Given the description of an element on the screen output the (x, y) to click on. 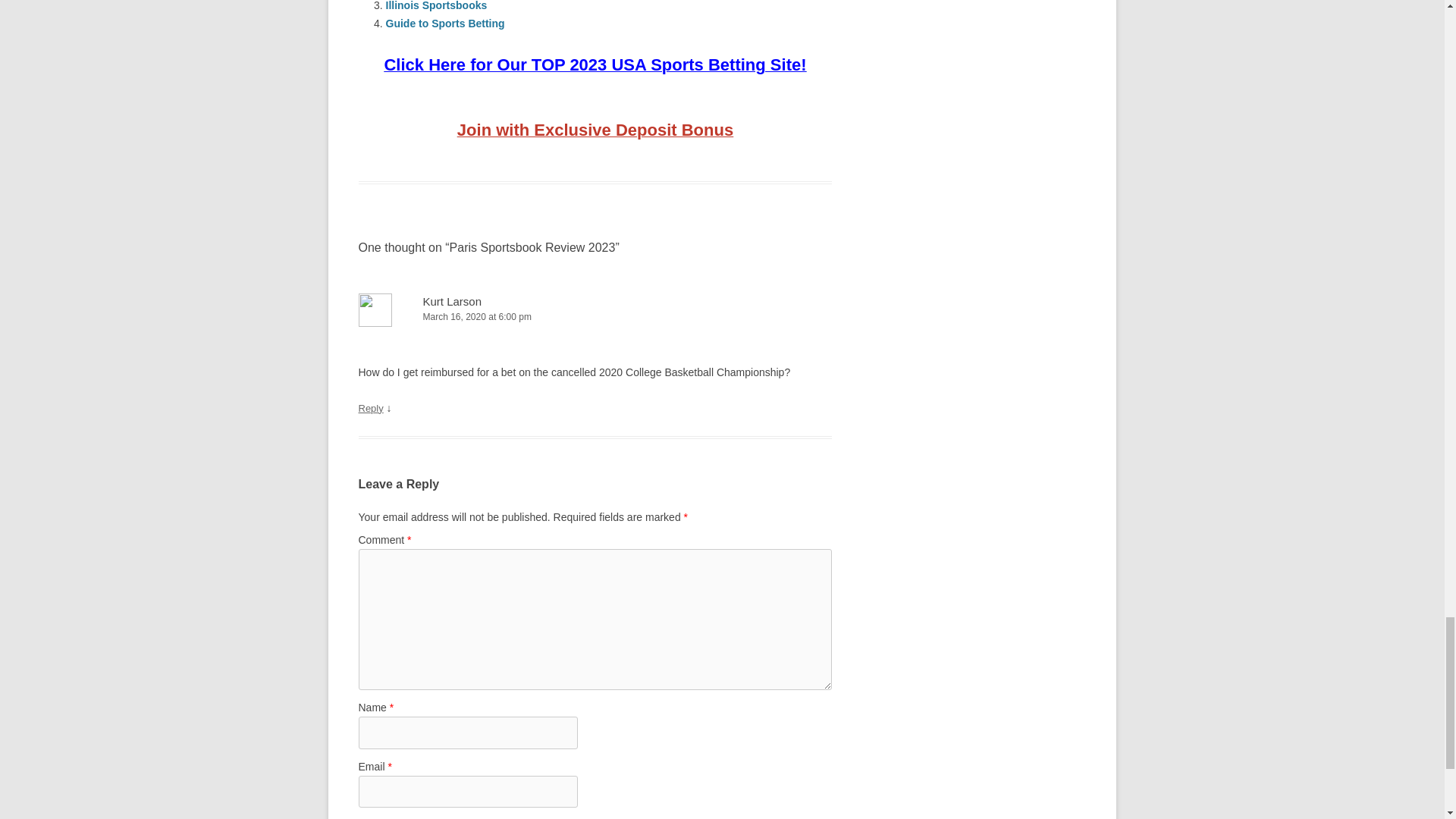
Illinois Sportsbooks (435, 5)
Illinois Sportsbooks (435, 5)
March 16, 2020 at 6:00 pm (594, 317)
Reply (370, 408)
Guide to Sports Betting (444, 23)
Guide to Sports Betting (444, 23)
Click Here for Our TOP 2023 USA Sports Betting Site! (595, 66)
Join with Exclusive Deposit Bonus (595, 132)
